Given the description of an element on the screen output the (x, y) to click on. 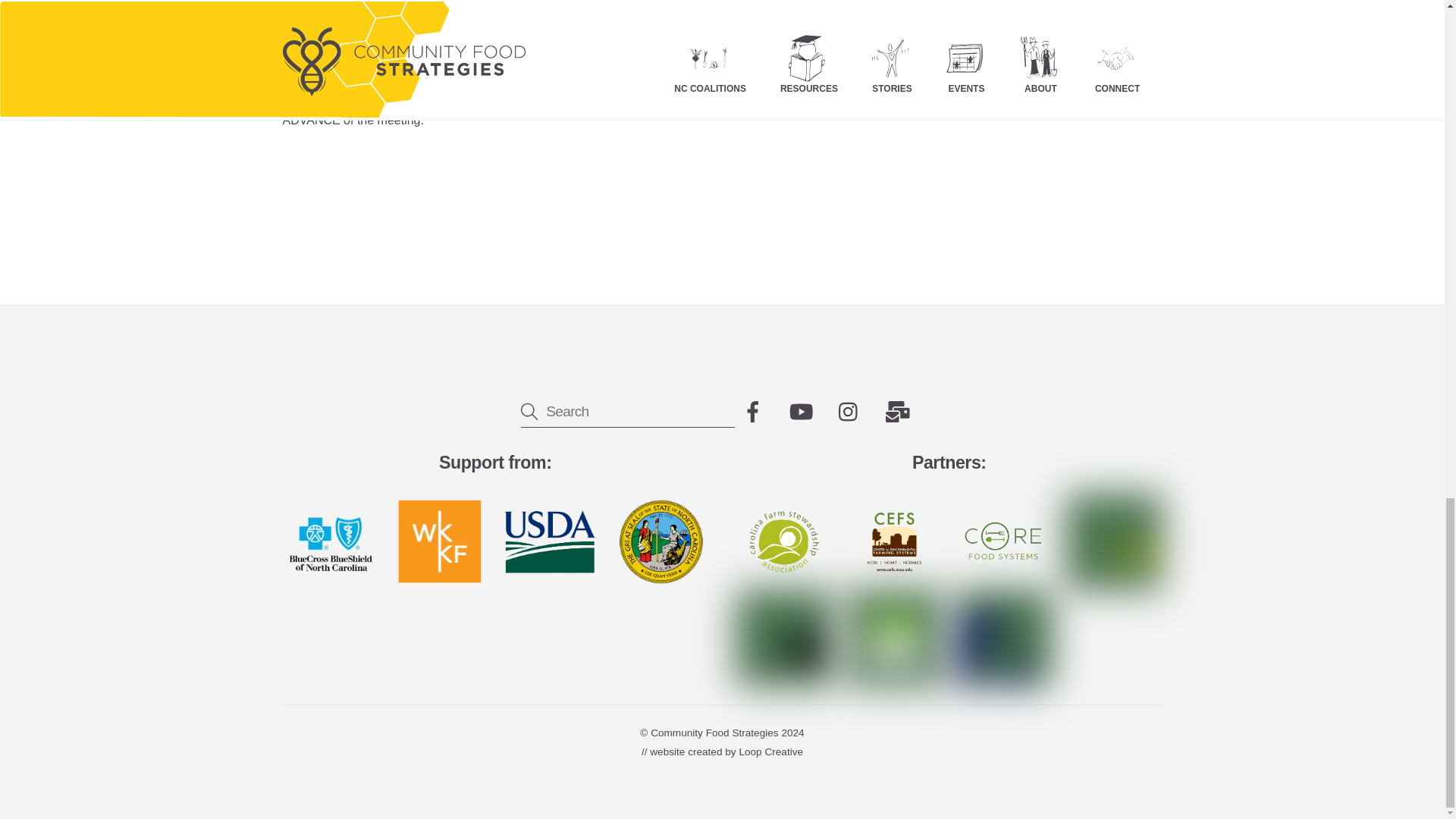
Function Assessment (407, 79)
Search (628, 410)
